Given the description of an element on the screen output the (x, y) to click on. 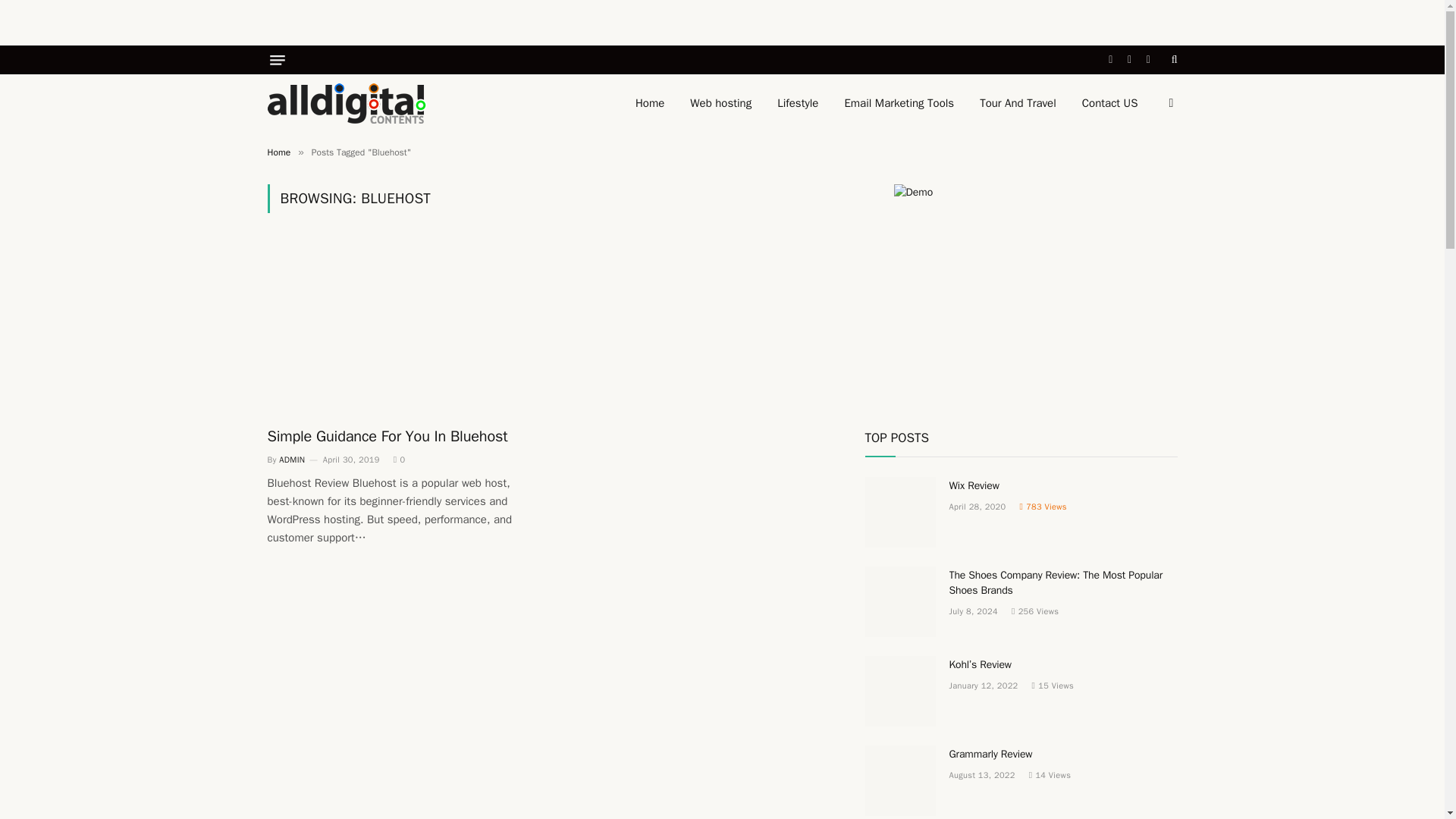
Simple Guidance For You In Bluehost (398, 435)
783 Article Views (1042, 506)
Email Marketing Tools (898, 102)
Lifestyle (797, 102)
ADMIN (291, 459)
Contact US (1109, 102)
Wix Review (1063, 485)
Wix Review (900, 511)
Posts by admin (291, 459)
0 (399, 459)
Web hosting (720, 102)
The Shoes Company Review: The Most Popular Shoes Brands (900, 601)
All Digital Contents (346, 103)
Home (277, 152)
256 Article Views (1034, 611)
